Given the description of an element on the screen output the (x, y) to click on. 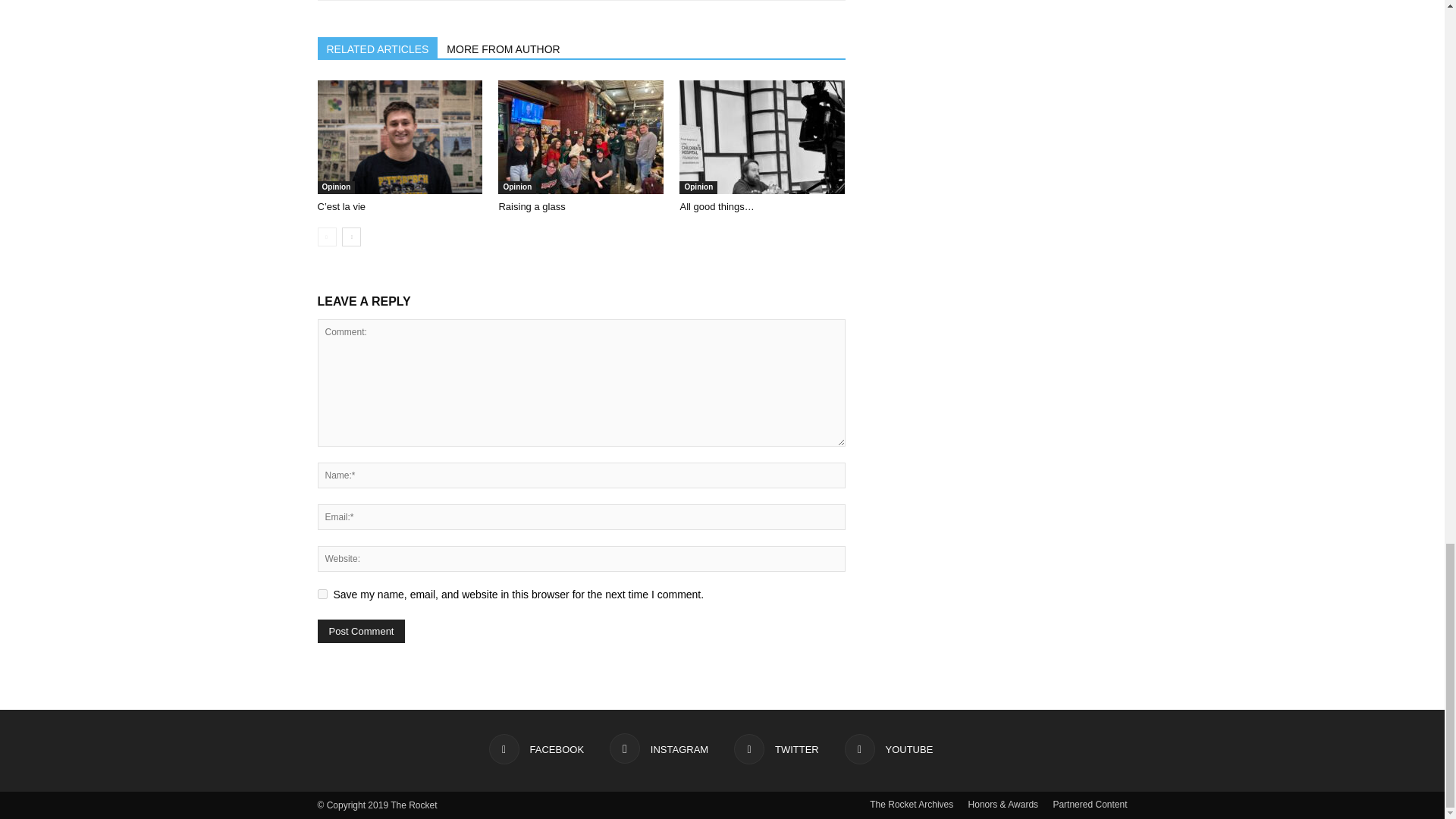
Raising a glass (580, 137)
yes (321, 593)
Raising a glass (530, 206)
Post Comment (360, 630)
